Given the description of an element on the screen output the (x, y) to click on. 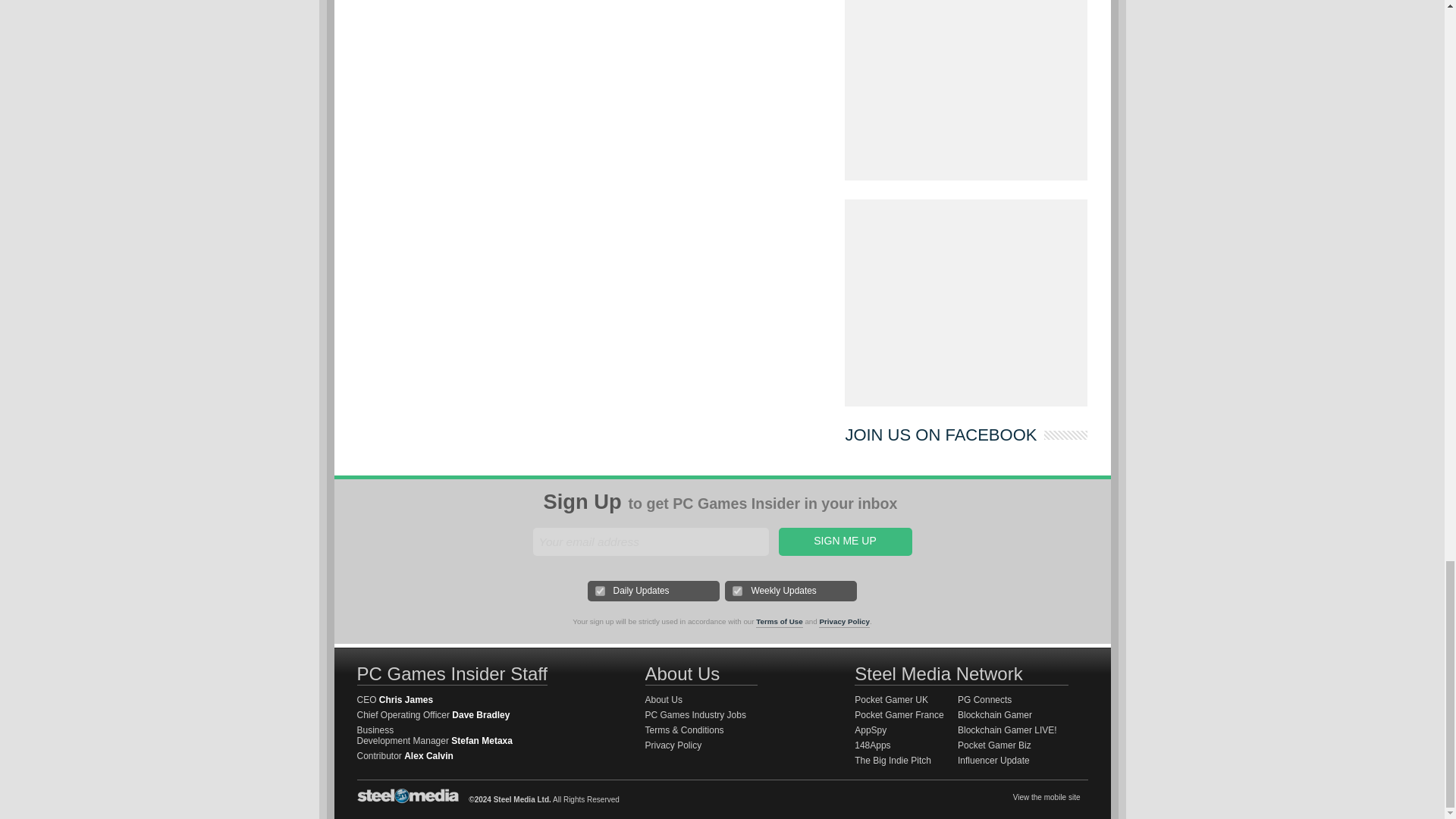
2 (737, 591)
SIGN ME UP (844, 541)
1 (600, 591)
